Given the description of an element on the screen output the (x, y) to click on. 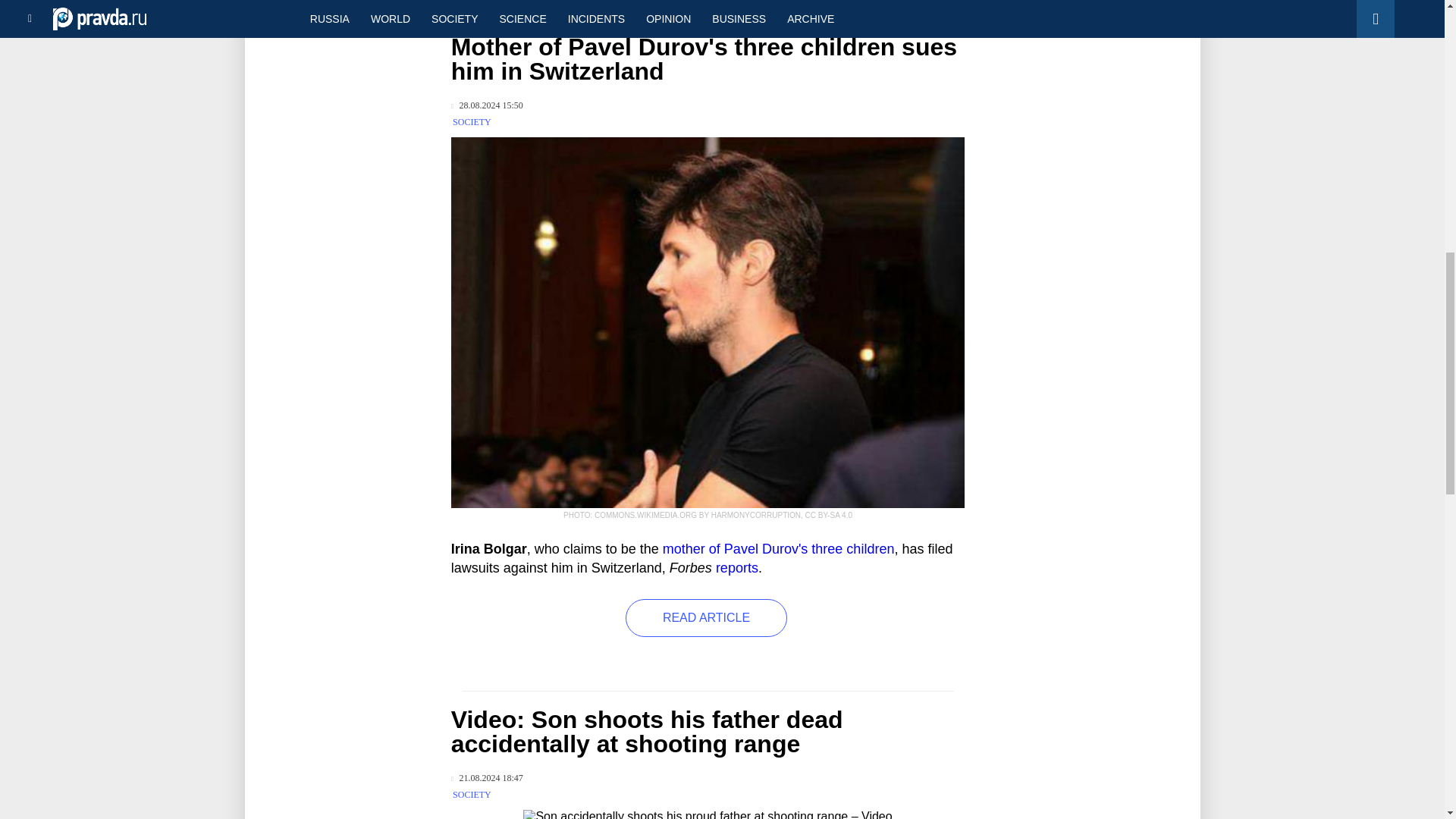
Published (486, 778)
Back to top (1418, 79)
Kremlin: Listen to Trump, he's right about WWIII (335, 11)
SOCIETY (472, 122)
Published (486, 105)
